Given the description of an element on the screen output the (x, y) to click on. 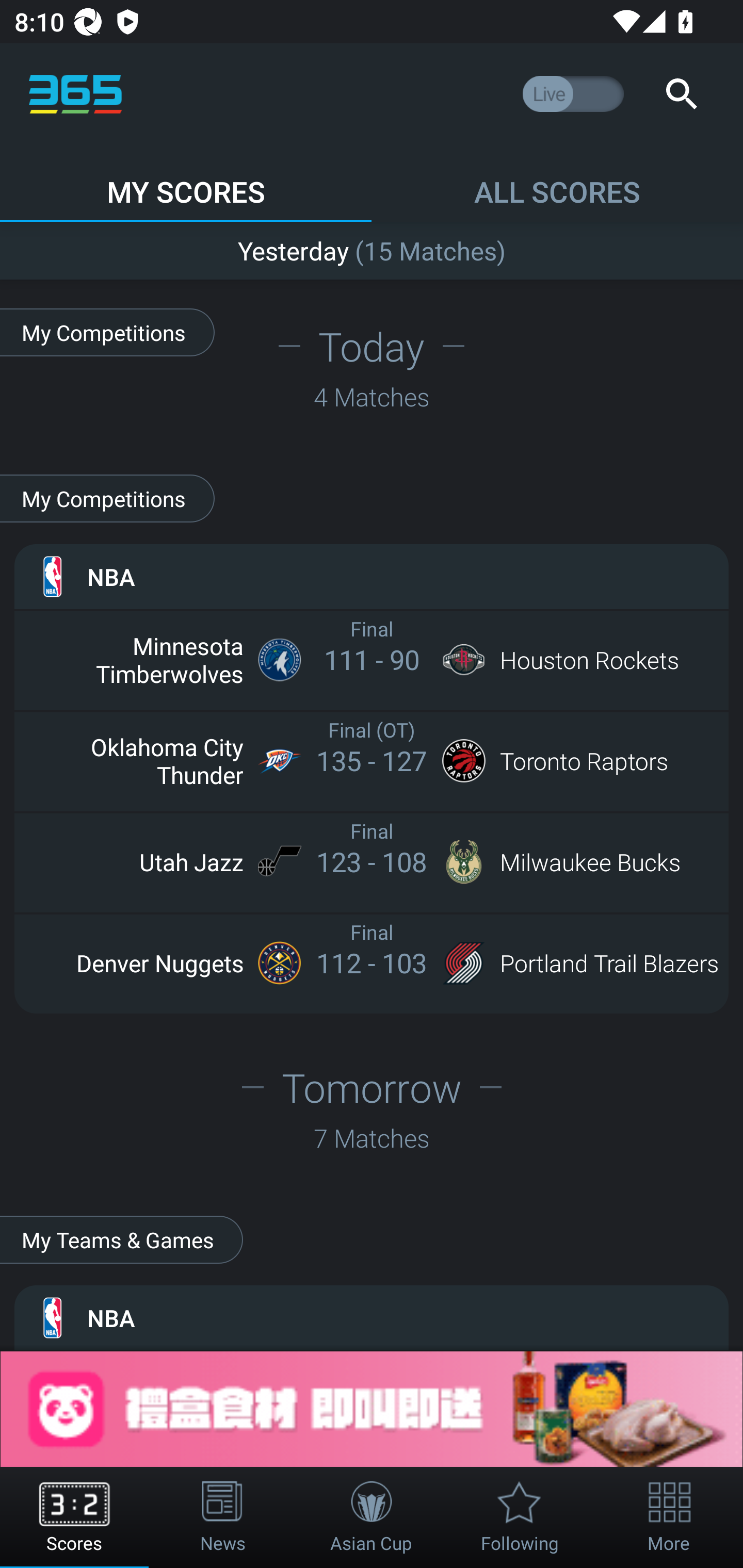
Search (681, 93)
MY SCORES (185, 182)
ALL SCORES (557, 182)
RB Leipzig 2 - 0 Union Berlin (371, 246)
NBA (371, 576)
Utah Jazz Final 123 - 108 Milwaukee Bucks (371, 861)
NBA (371, 1317)
Advertisement (371, 1409)
News (222, 1517)
Asian Cup (371, 1517)
Following (519, 1517)
More (668, 1517)
